Given the description of an element on the screen output the (x, y) to click on. 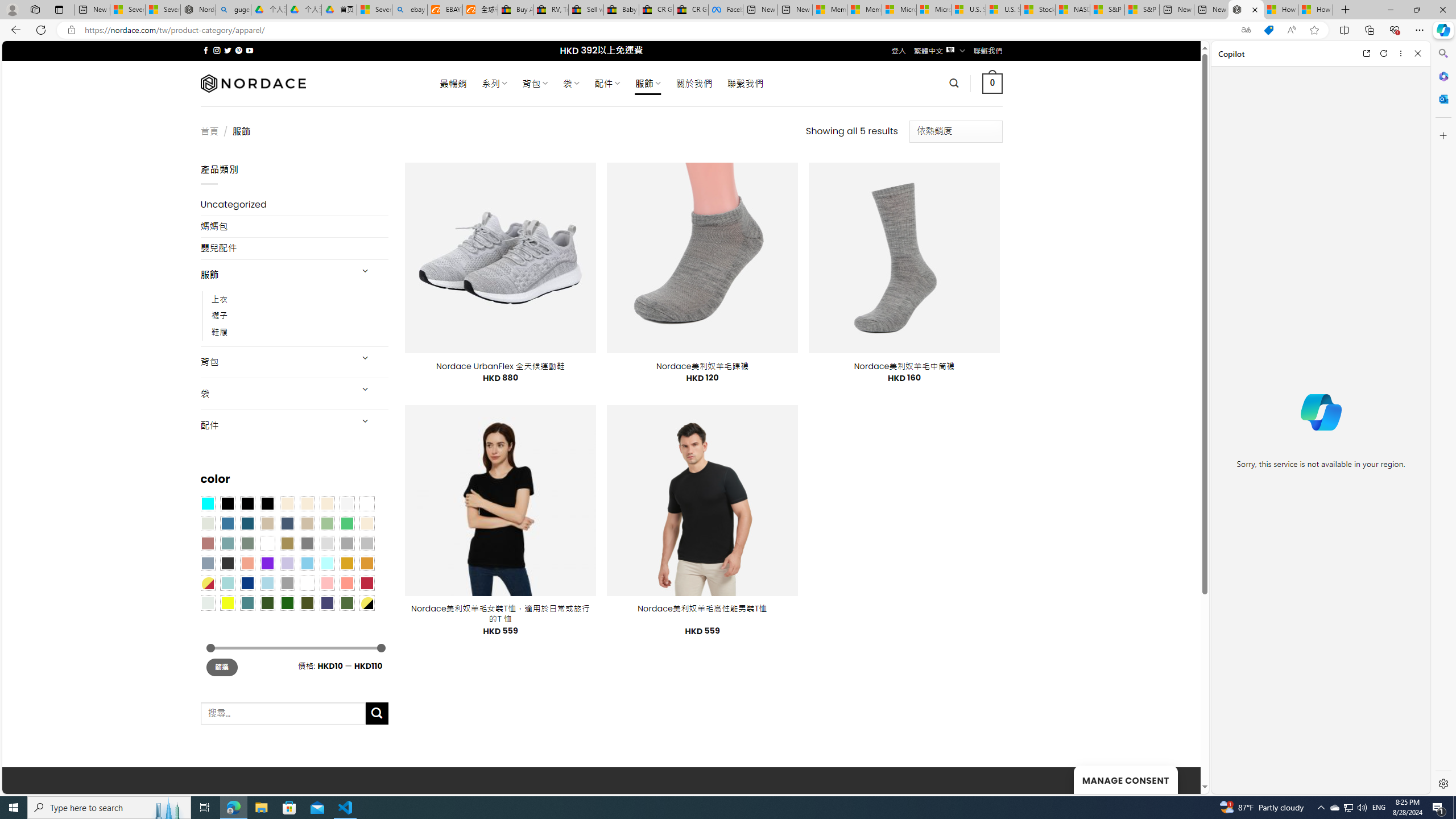
Uncategorized (294, 204)
